Given the description of an element on the screen output the (x, y) to click on. 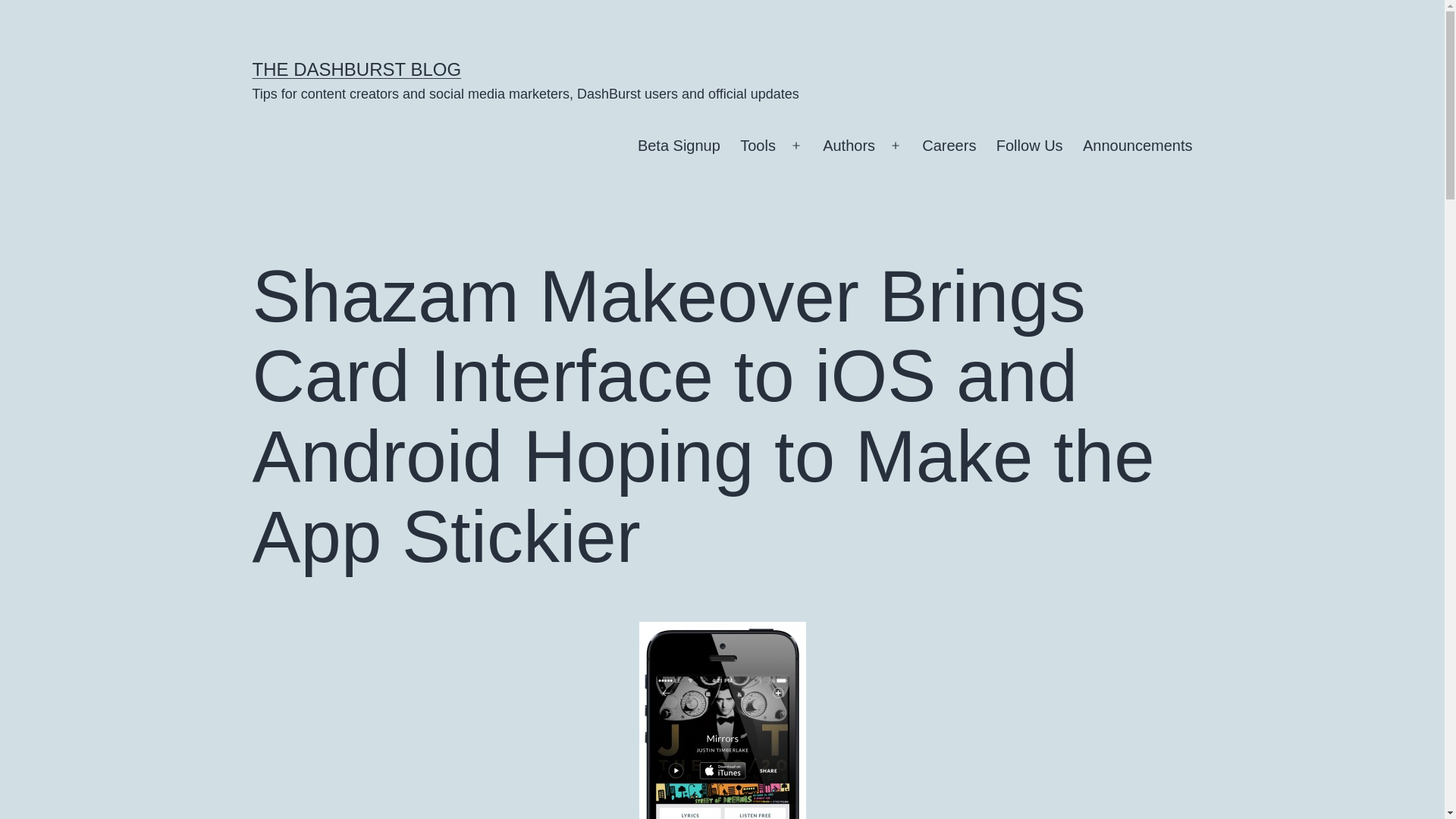
Follow Us (1030, 145)
Announcements (1137, 145)
Beta Signup (678, 145)
THE DASHBURST BLOG (356, 68)
Tools (758, 145)
Authors (848, 145)
Careers (949, 145)
Sign Up for the DashBurst Beta! (678, 145)
